Given the description of an element on the screen output the (x, y) to click on. 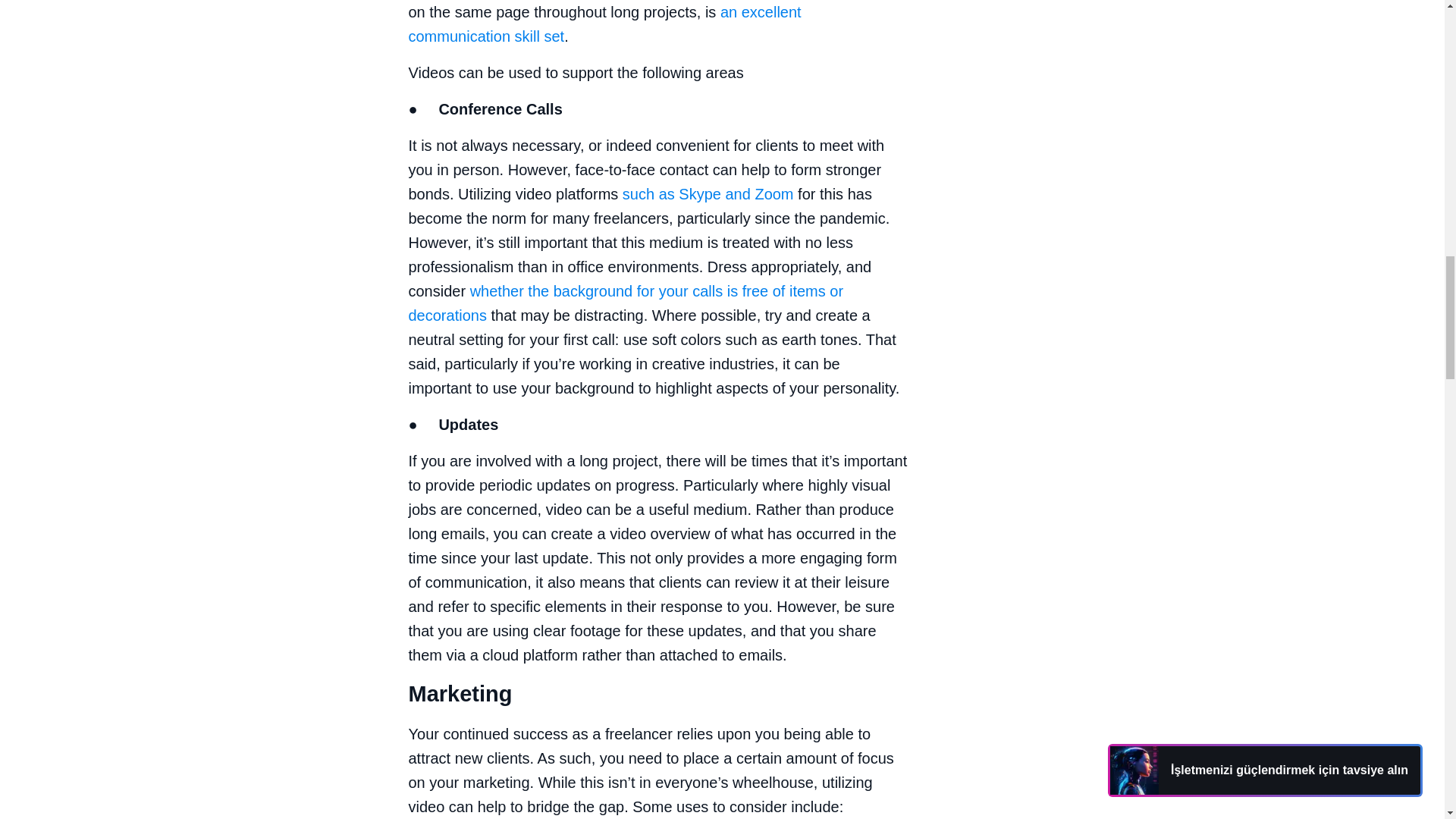
an excellent communication skill set (603, 24)
such as Skype and Zoom (708, 193)
